Given the description of an element on the screen output the (x, y) to click on. 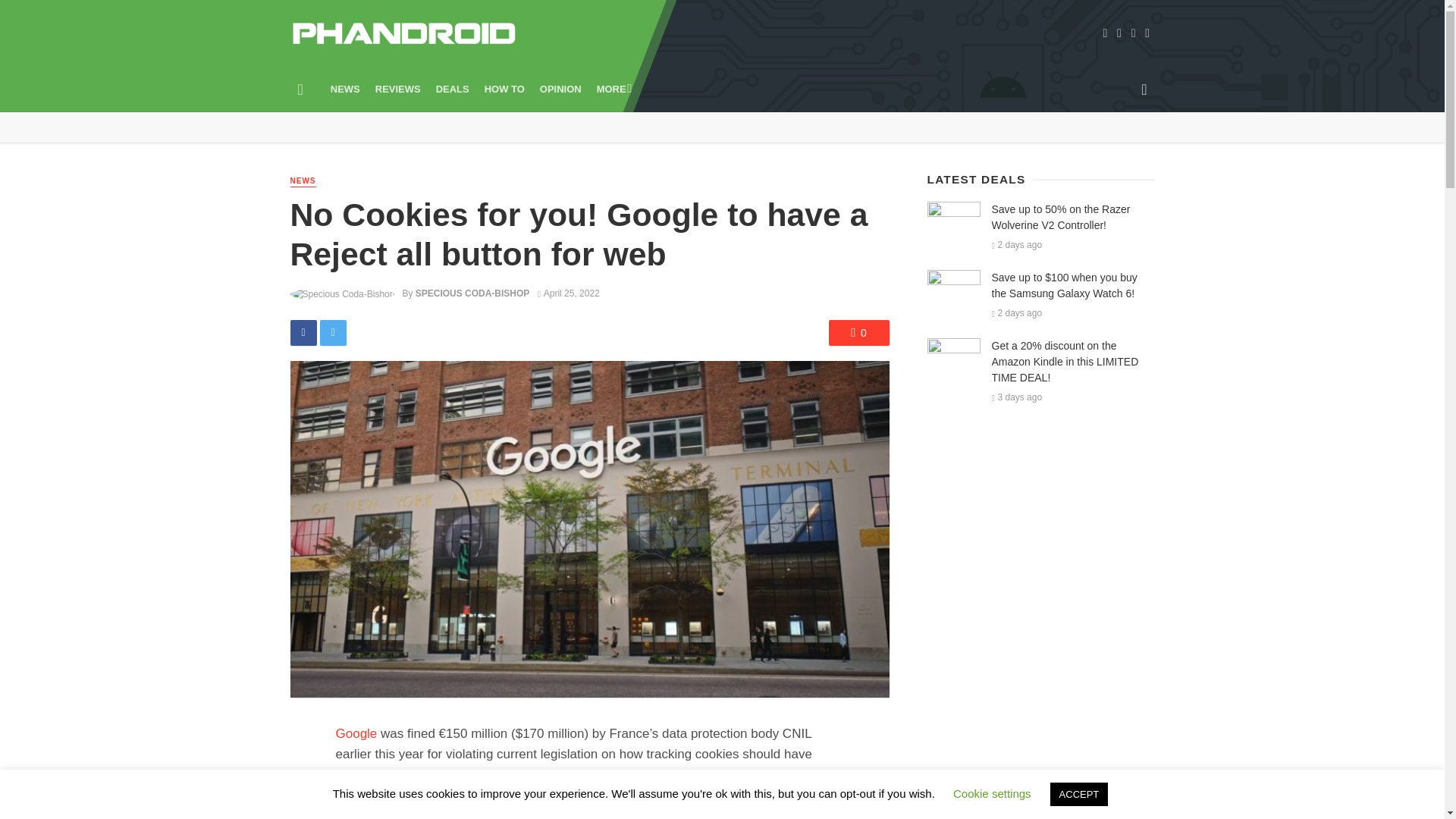
MORE (612, 89)
NEWS (345, 89)
SPECIOUS CODA-BISHOP (471, 293)
Posts by Specious Coda-Bishop (471, 293)
DEALS (452, 89)
Google (355, 733)
NEWS (302, 181)
HOW TO (504, 89)
REVIEWS (398, 89)
April 25, 2022 at 6:55 am (568, 293)
